Given the description of an element on the screen output the (x, y) to click on. 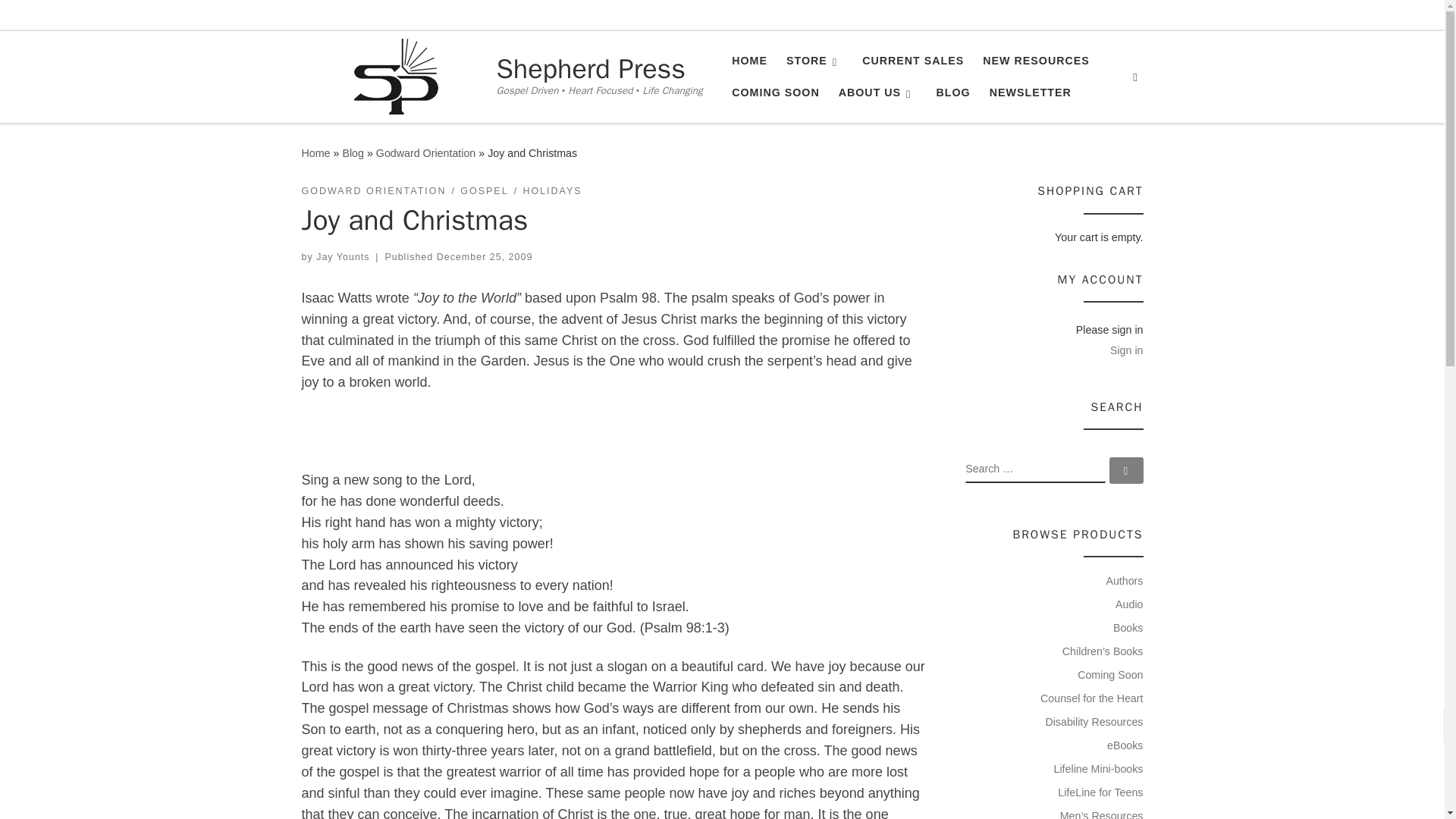
Blog (353, 152)
Skip to content (60, 20)
View all posts in Holidays (551, 191)
HOME (748, 60)
ABOUT US (876, 92)
View all posts in Gospel (484, 191)
CURRENT SALES (913, 60)
NEW RESOURCES (1036, 60)
Shepherd Press (599, 68)
Godward Orientation (425, 152)
NEWSLETTER (1029, 92)
View all posts in Godward Orientation (373, 191)
View all posts by Jay Younts (342, 256)
COMING SOON (775, 92)
10:29 AM (484, 256)
